Given the description of an element on the screen output the (x, y) to click on. 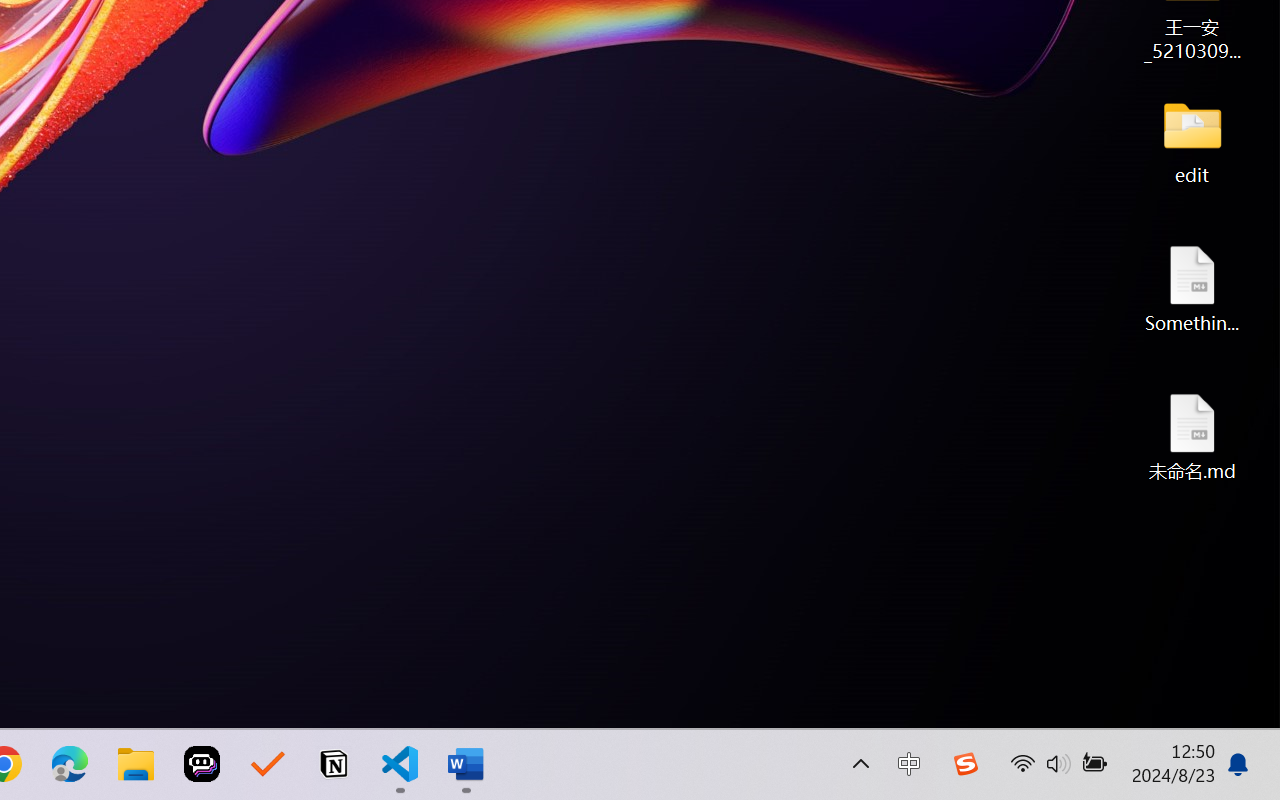
edit (1192, 140)
